Given the description of an element on the screen output the (x, y) to click on. 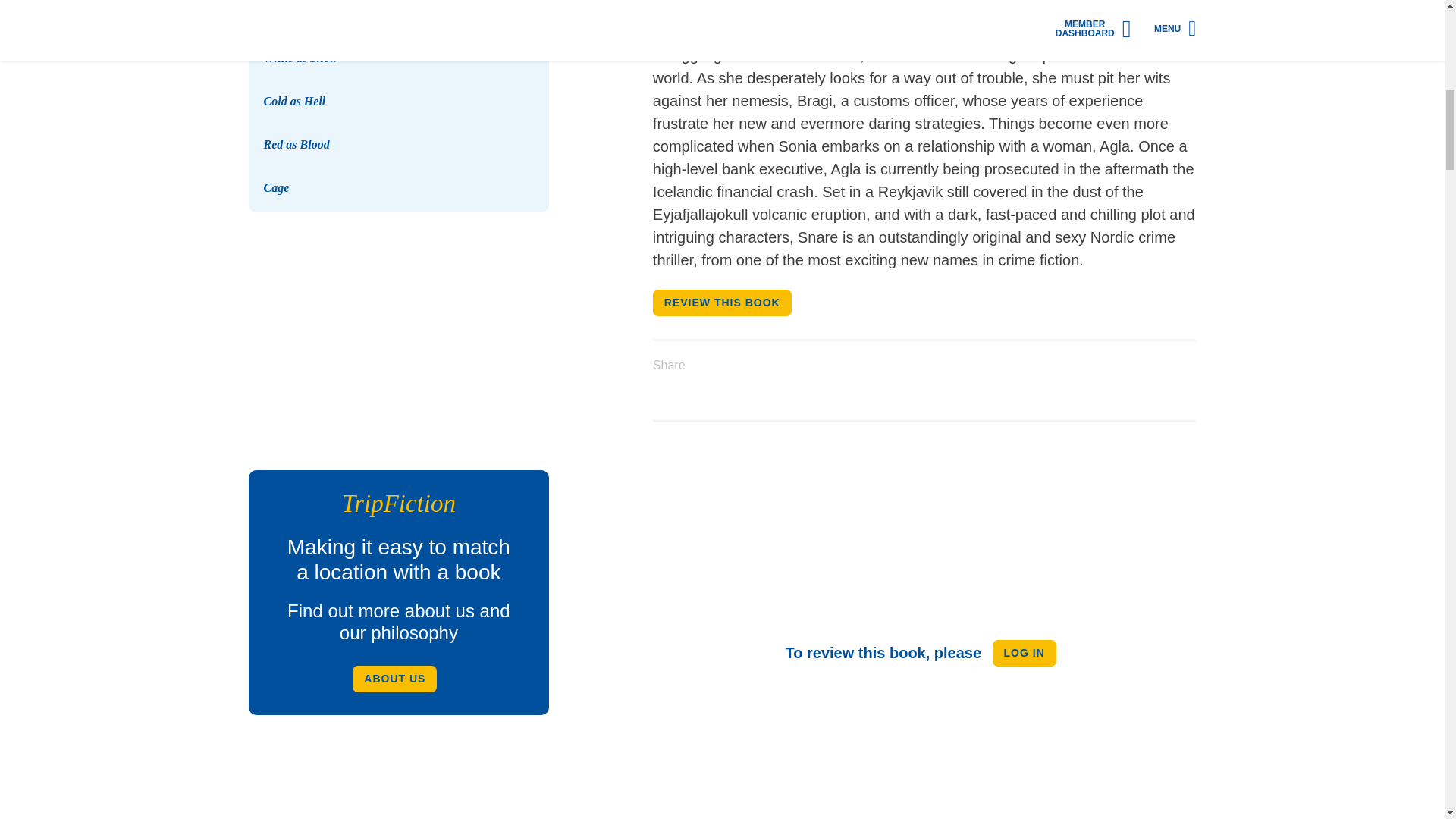
White as Snow (398, 30)
Cage (276, 187)
Red as Blood (296, 144)
REVIEW THIS BOOK (722, 302)
Cold as Hell (294, 101)
ABOUT US (394, 678)
White as Snow (300, 57)
LOG IN (1024, 652)
